Given the description of an element on the screen output the (x, y) to click on. 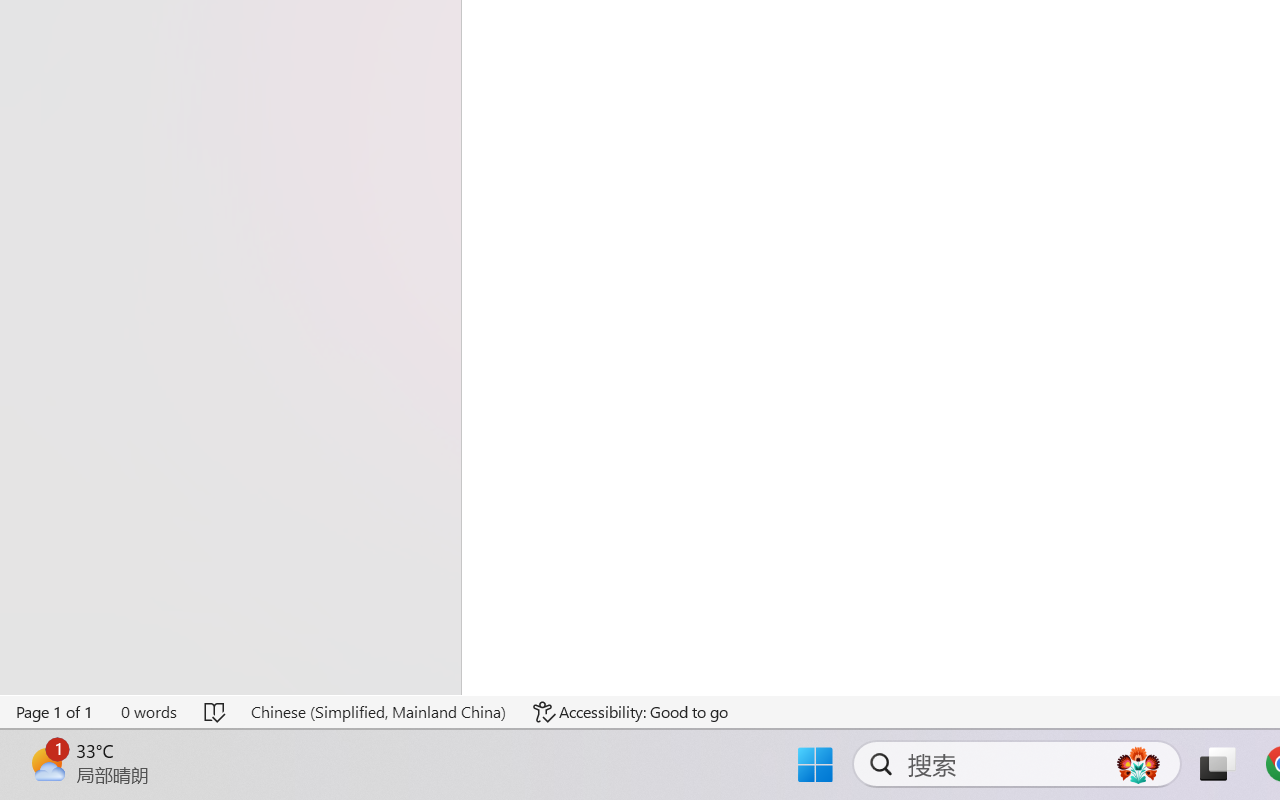
Language Chinese (Simplified, Mainland China) (378, 712)
